Given the description of an element on the screen output the (x, y) to click on. 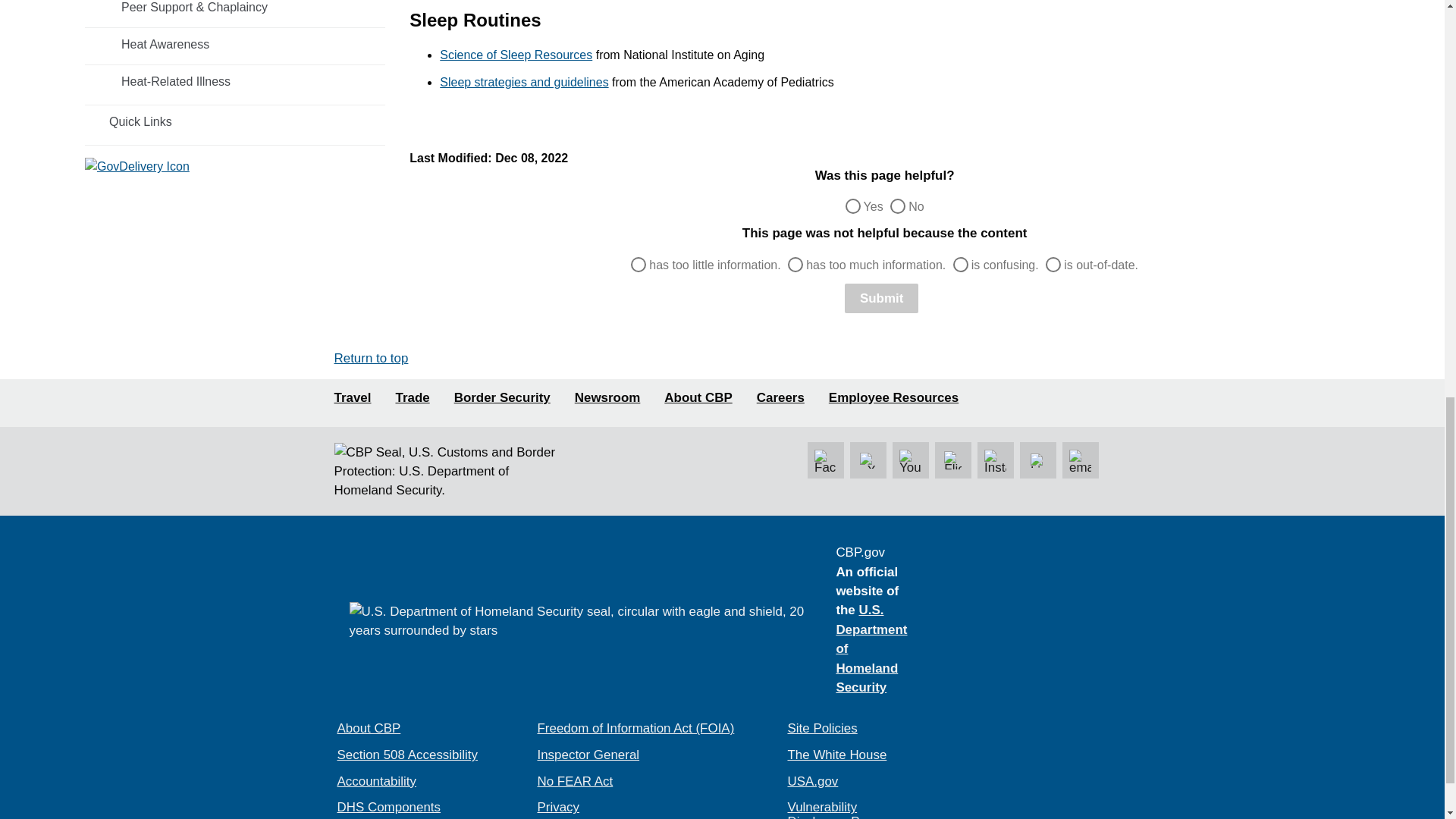
Submit (881, 297)
Submit (881, 297)
Careers (781, 398)
Heat Awareness (234, 44)
Heat-Related Illness (234, 81)
Border Security (502, 398)
About (697, 398)
Newsroom (607, 398)
Travel (352, 398)
National Terrorism Advisory System (1022, 611)
